Given the description of an element on the screen output the (x, y) to click on. 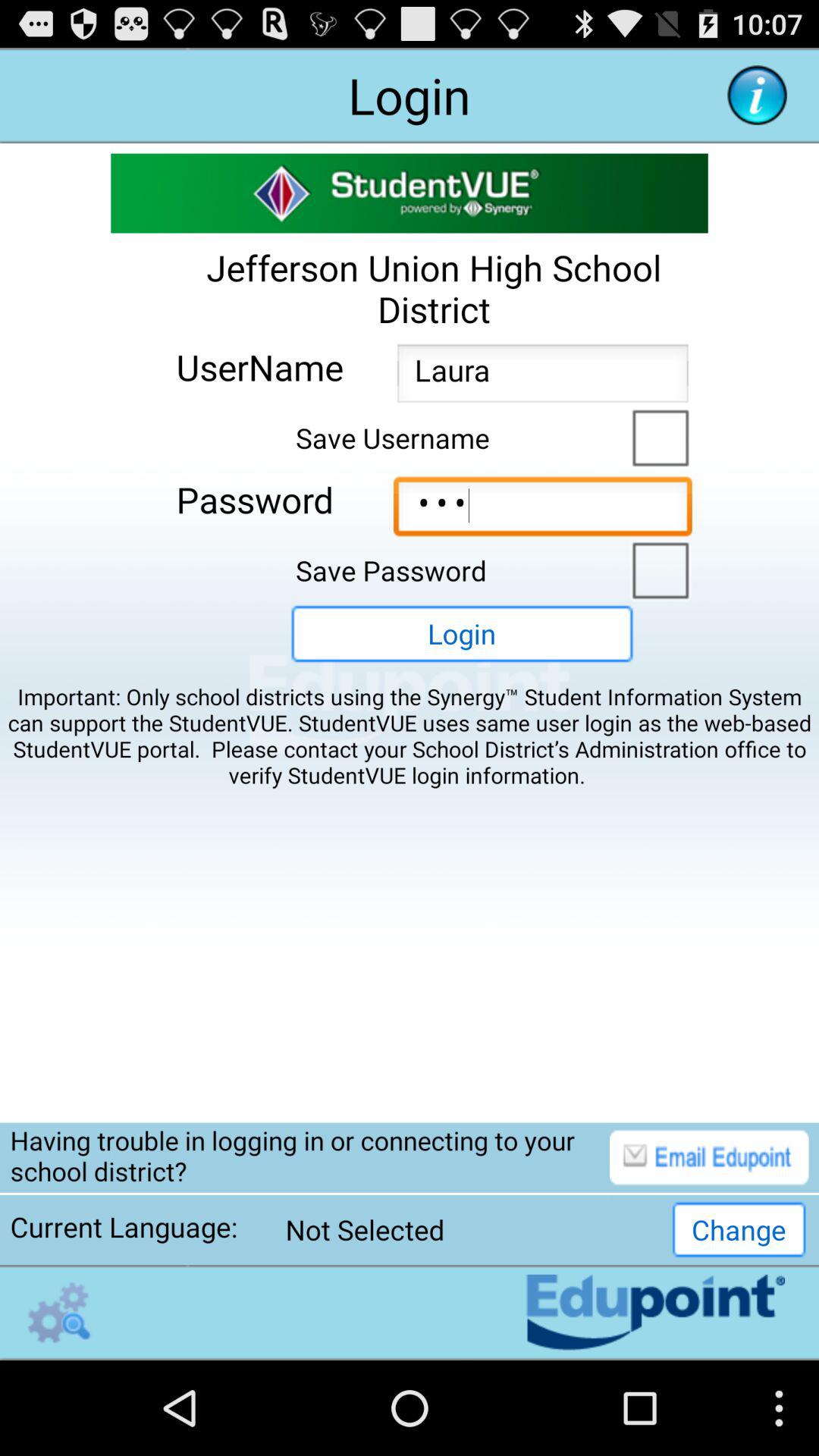
switch save password option (657, 569)
